Given the description of an element on the screen output the (x, y) to click on. 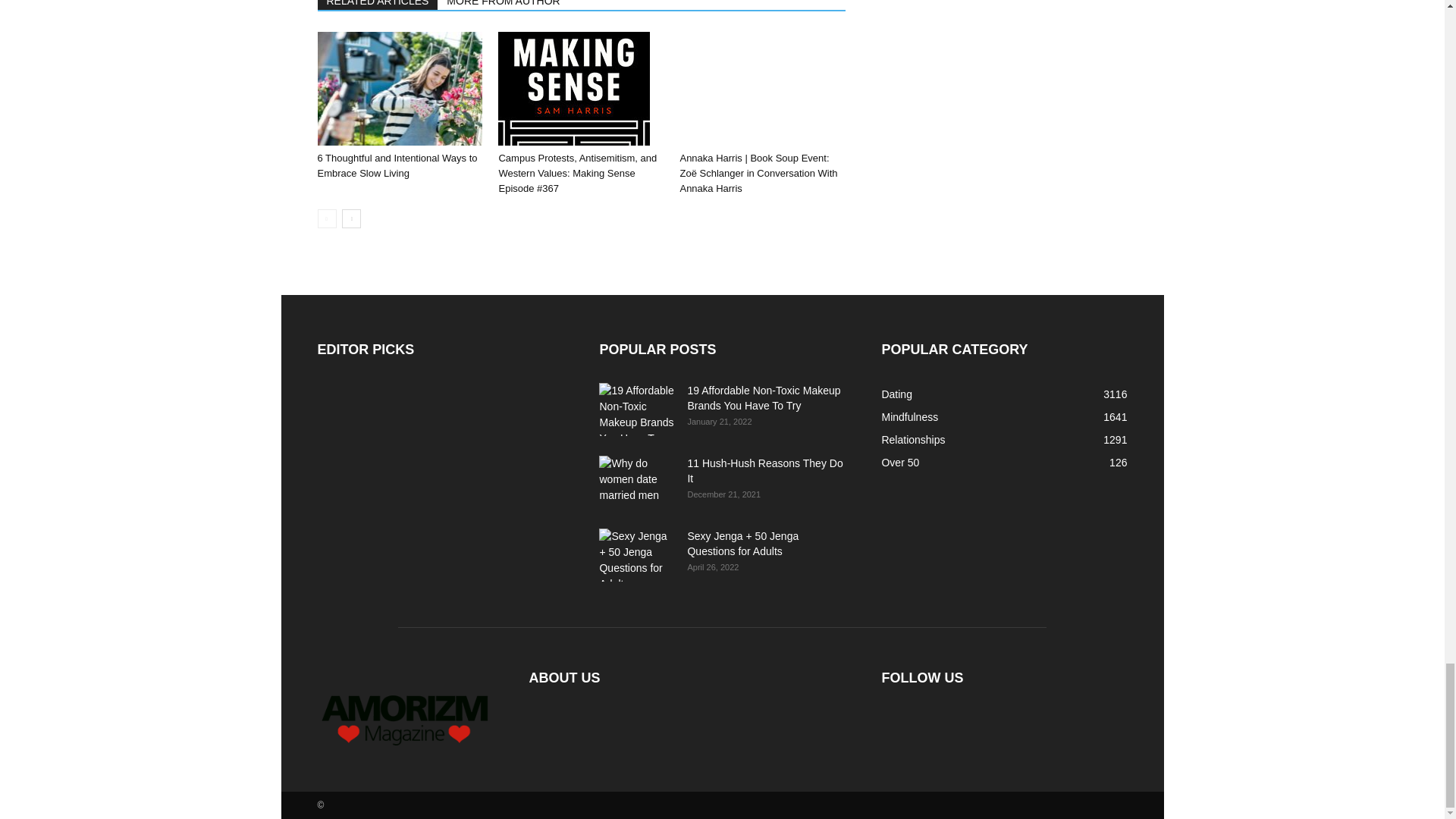
RELATED ARTICLES (377, 4)
MORE FROM AUTHOR (503, 4)
6 Thoughtful and Intentional Ways to Embrace Slow Living (397, 165)
6 Thoughtful and Intentional Ways to Embrace Slow Living (399, 88)
